Given the description of an element on the screen output the (x, y) to click on. 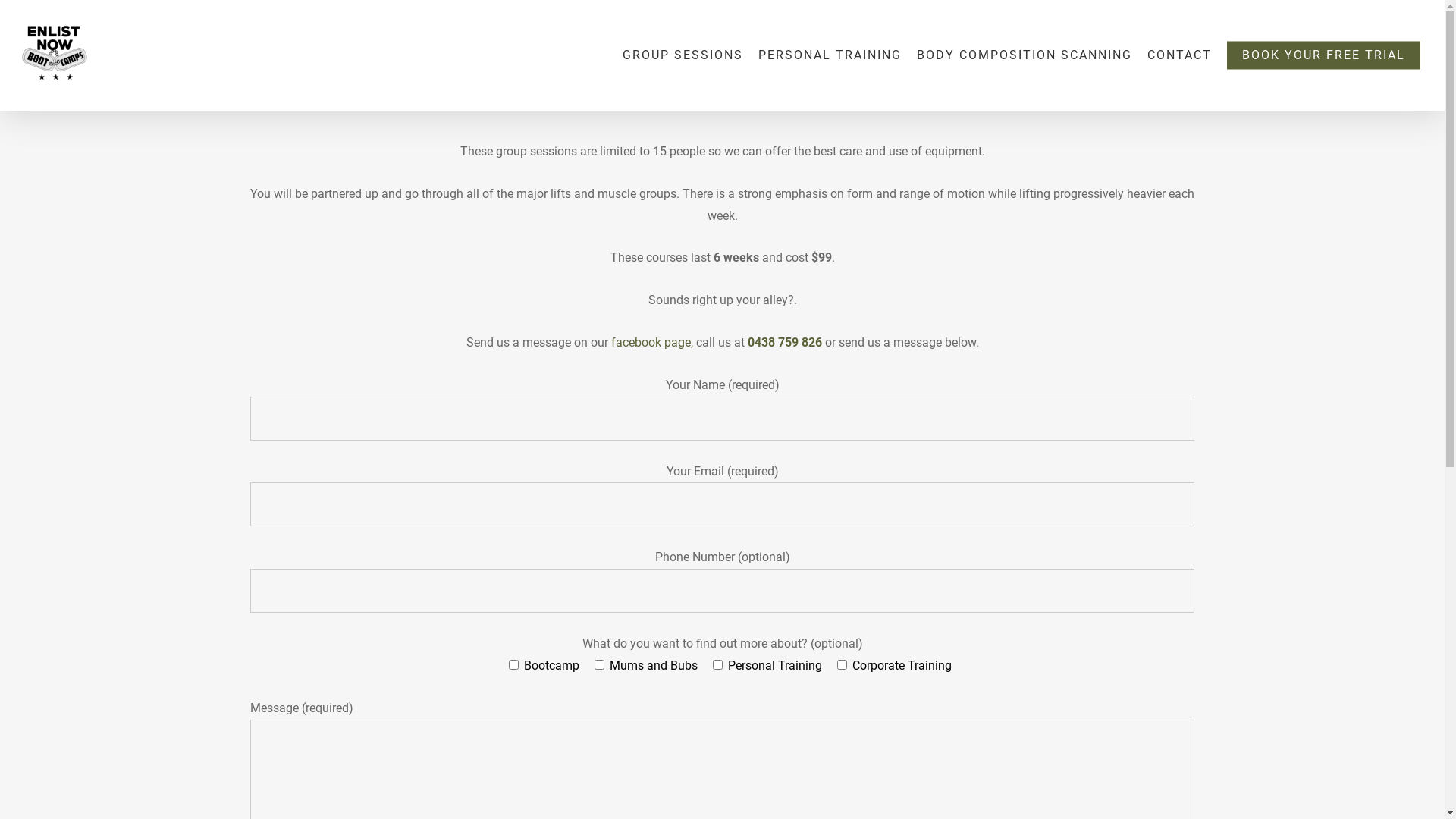
BOOK YOUR FREE TRIAL Element type: text (1323, 55)
facebook page, Element type: text (652, 342)
0438 759 826 Element type: text (784, 342)
PERSONAL TRAINING Element type: text (829, 55)
BODY COMPOSITION SCANNING Element type: text (1024, 55)
CONTACT Element type: text (1179, 55)
GROUP SESSIONS Element type: text (682, 55)
